Given the description of an element on the screen output the (x, y) to click on. 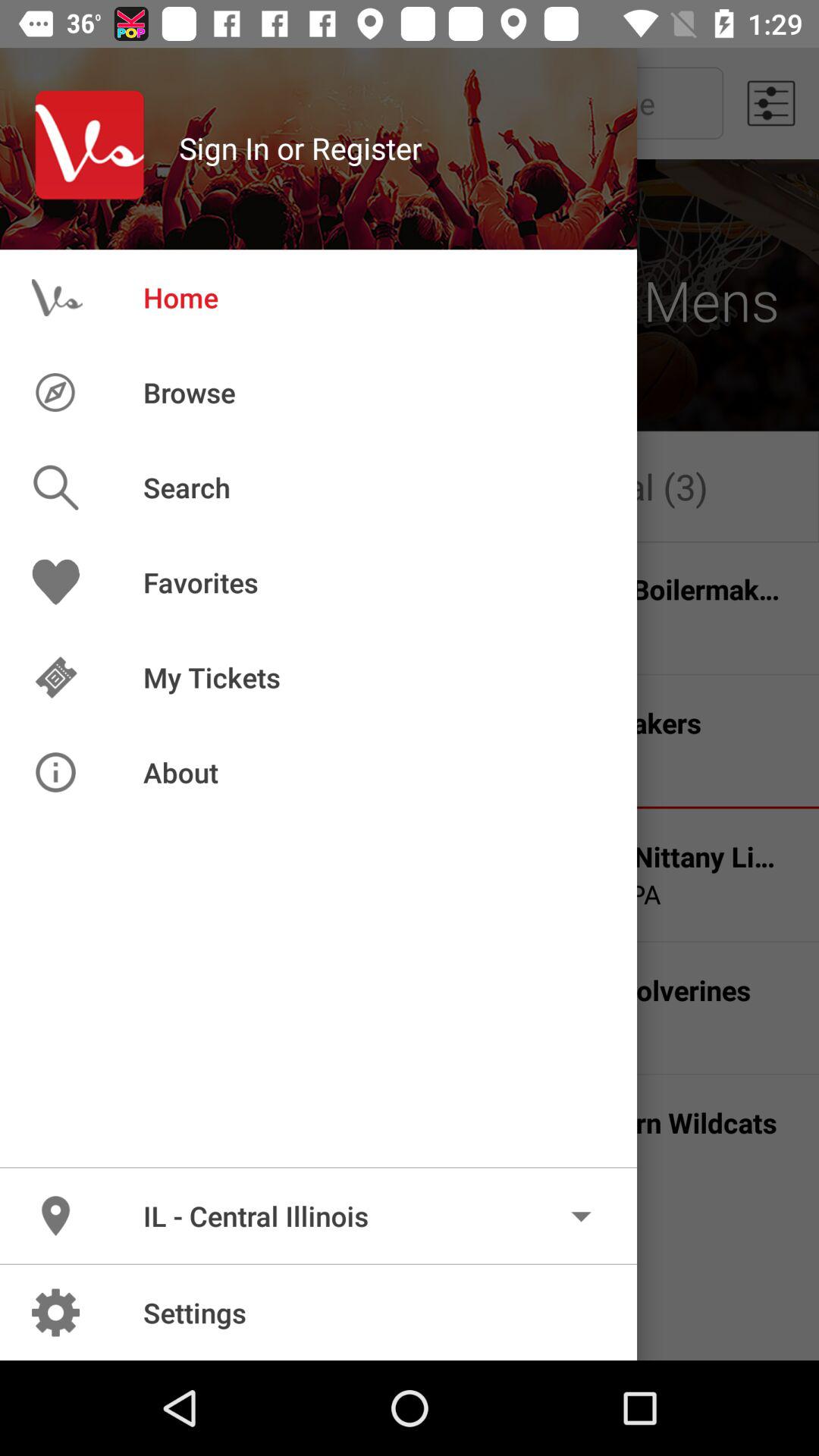
click on the search image option (79, 487)
